Given the description of an element on the screen output the (x, y) to click on. 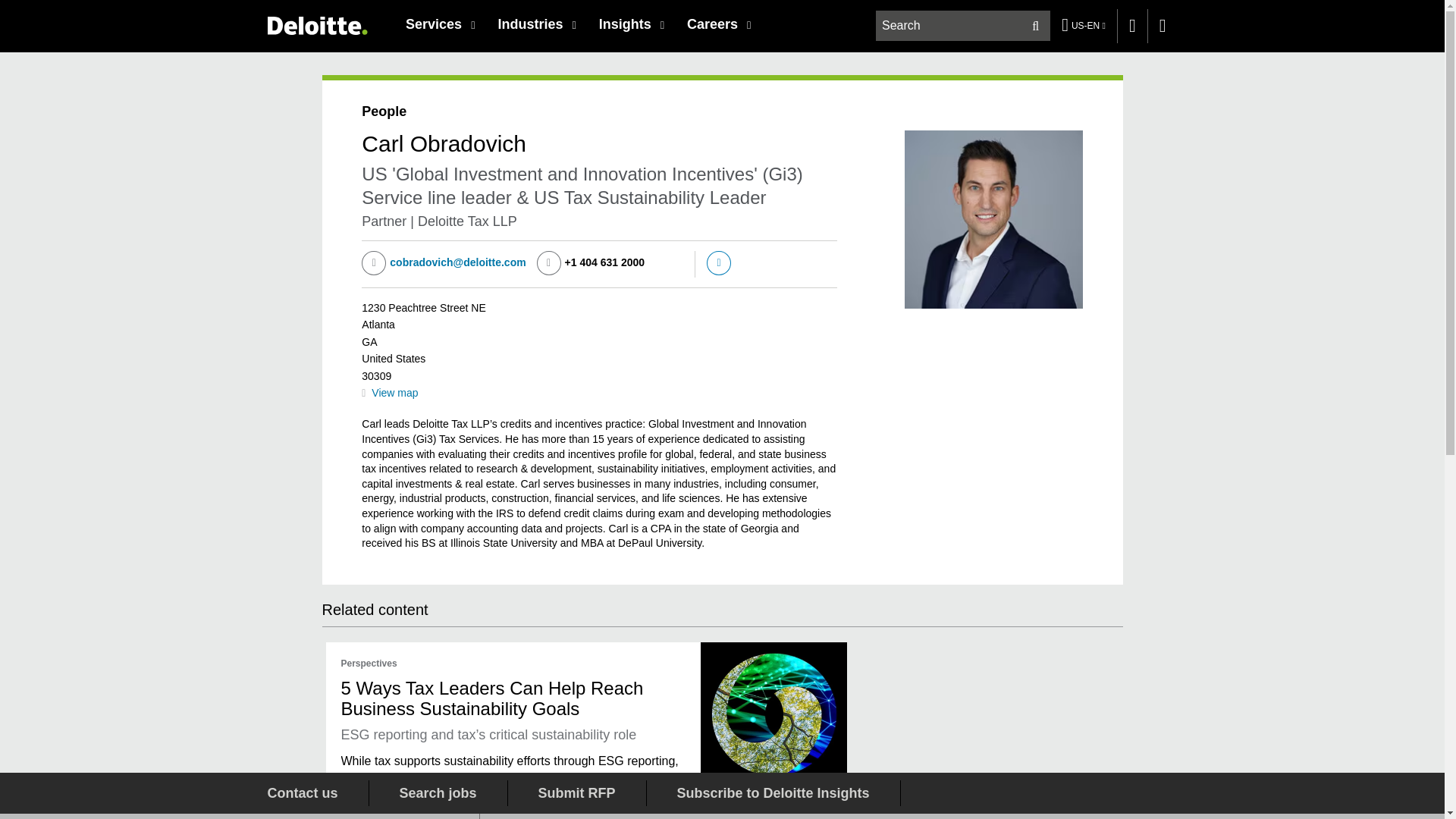
search (963, 25)
United States (316, 25)
Industries (536, 24)
Search (1034, 25)
Services (440, 24)
LinkedIn (718, 263)
